Given the description of an element on the screen output the (x, y) to click on. 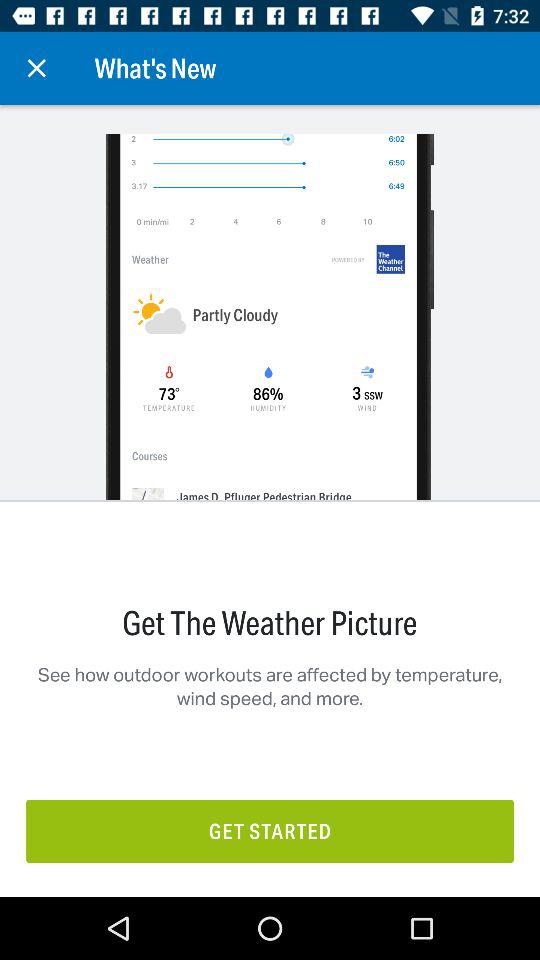
select get started (269, 830)
